Given the description of an element on the screen output the (x, y) to click on. 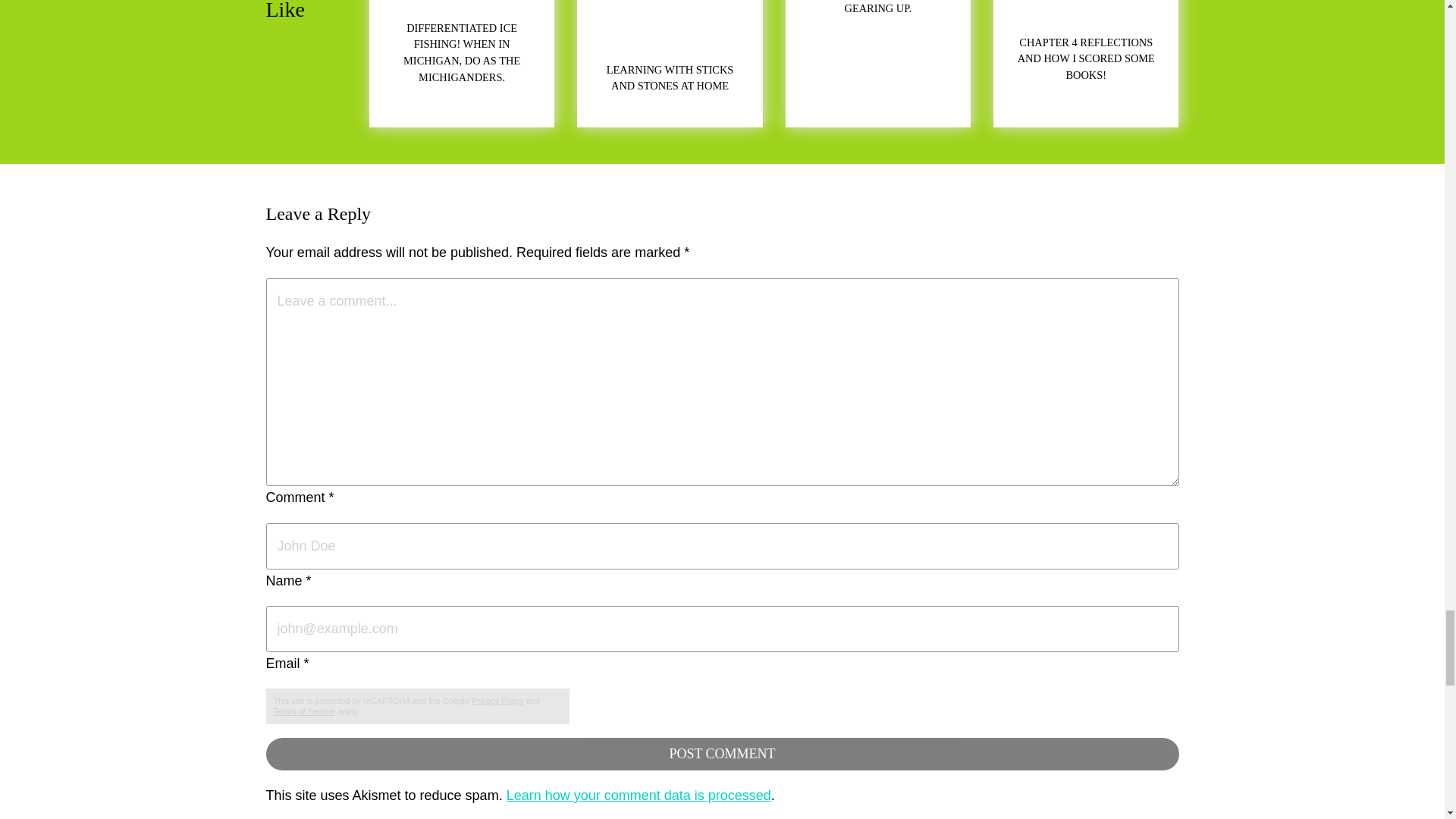
Post Comment (720, 753)
